Given the description of an element on the screen output the (x, y) to click on. 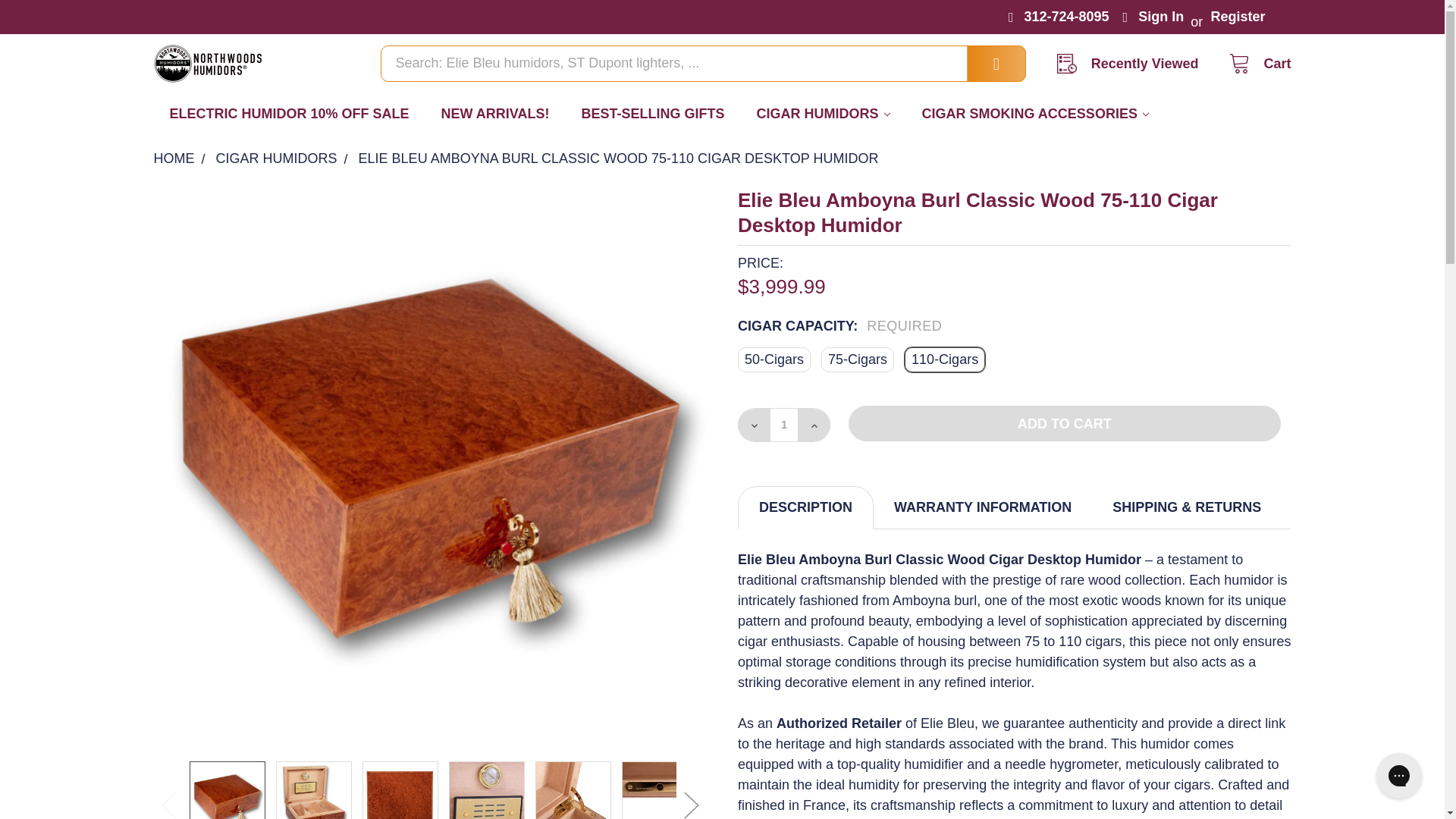
Sign In (1155, 17)
CIGAR SMOKING ACCESSORIES (1034, 114)
NEW ARRIVALS! (495, 114)
Cart (1254, 63)
CIGAR HUMIDORS (823, 114)
312-724-8095 (1058, 17)
Cart (1254, 63)
Recently Viewed (1133, 63)
